Given the description of an element on the screen output the (x, y) to click on. 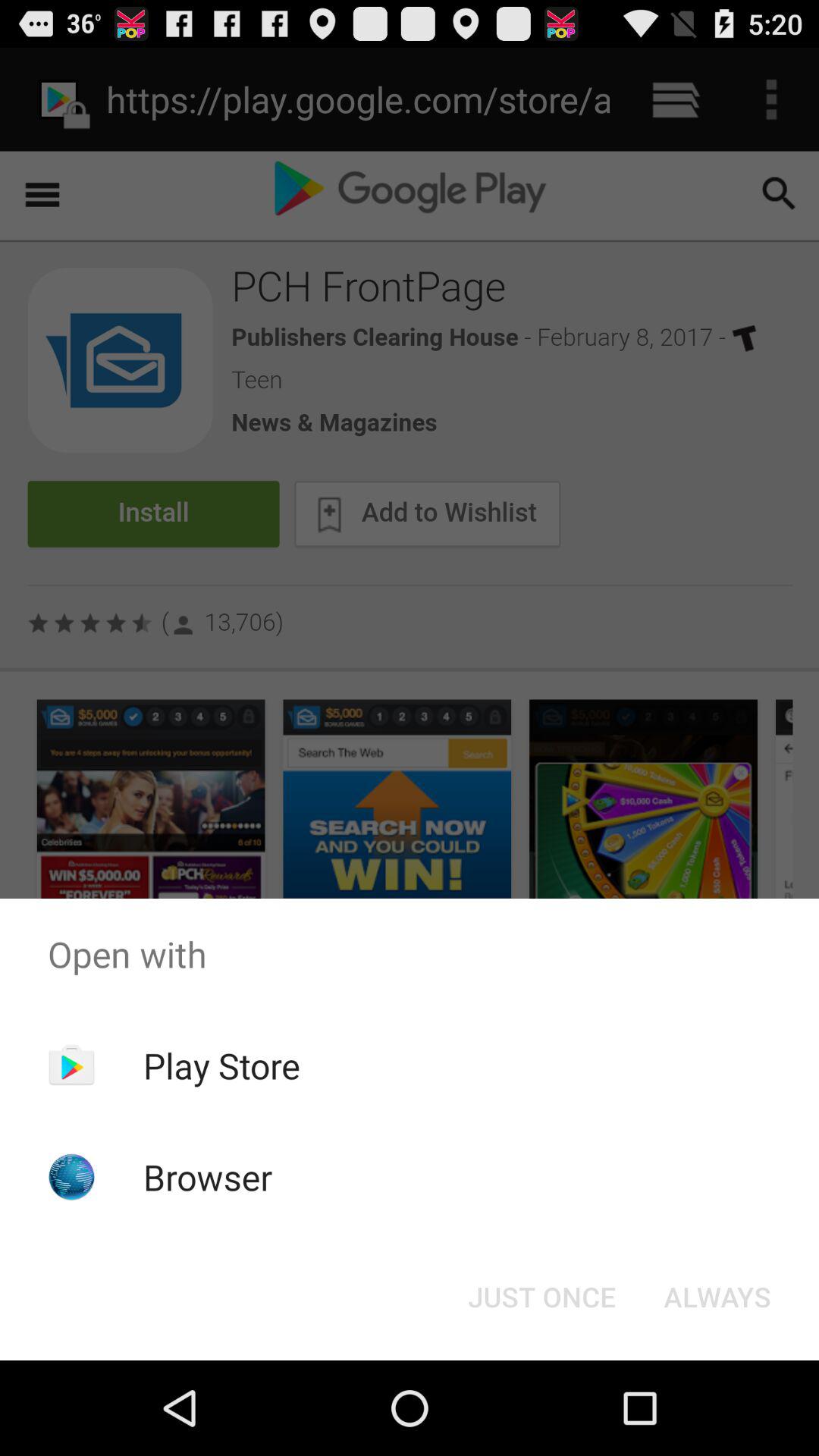
click item below open with app (541, 1296)
